Given the description of an element on the screen output the (x, y) to click on. 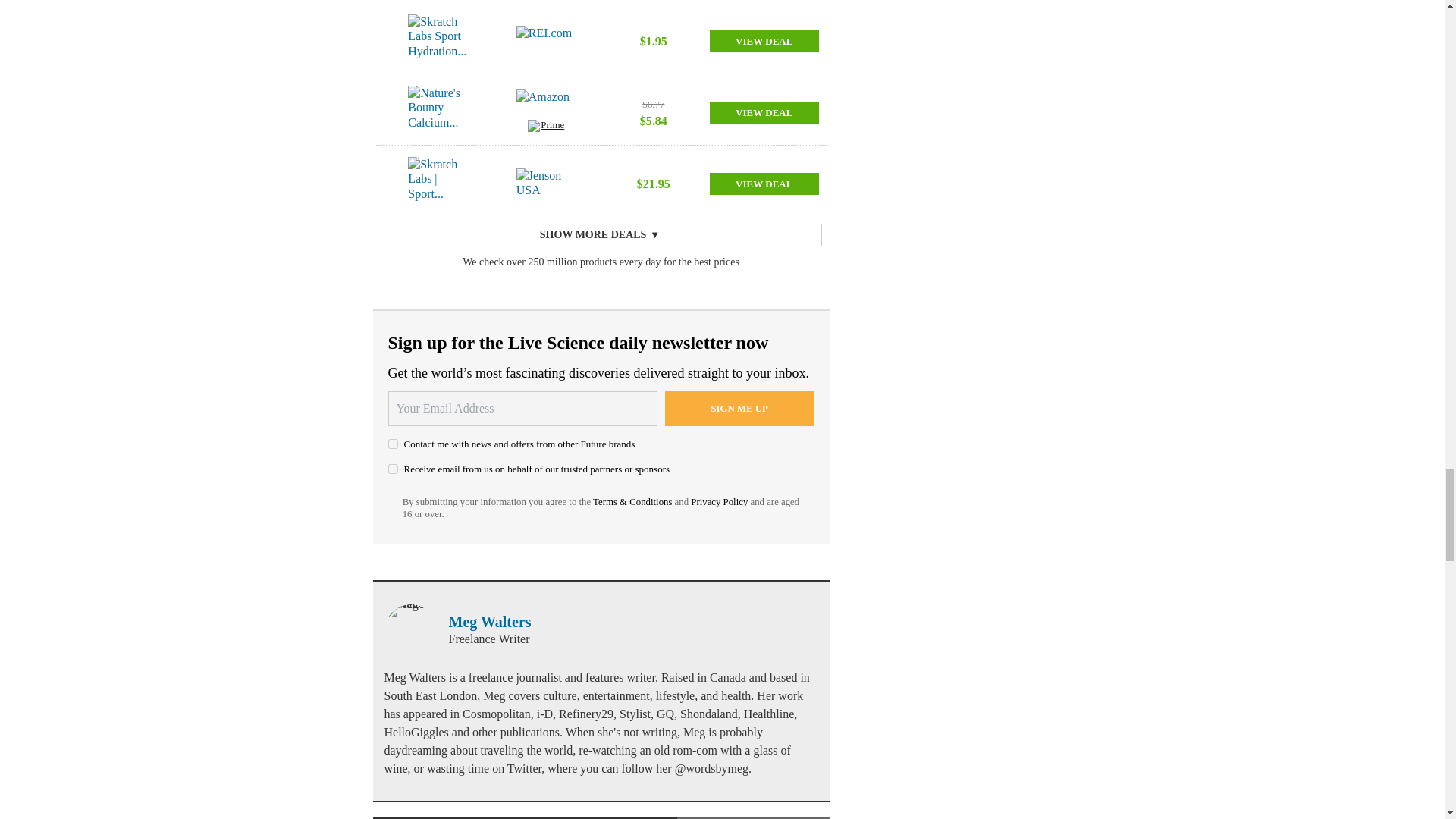
on (392, 469)
Nature's Bounty Calcium... (437, 111)
Amazon (546, 104)
on (392, 443)
Skratch Labs Sport Hydration... (437, 40)
Sign me up (739, 408)
Prime (546, 127)
Jenson USA (546, 183)
REI.com (546, 40)
